Given the description of an element on the screen output the (x, y) to click on. 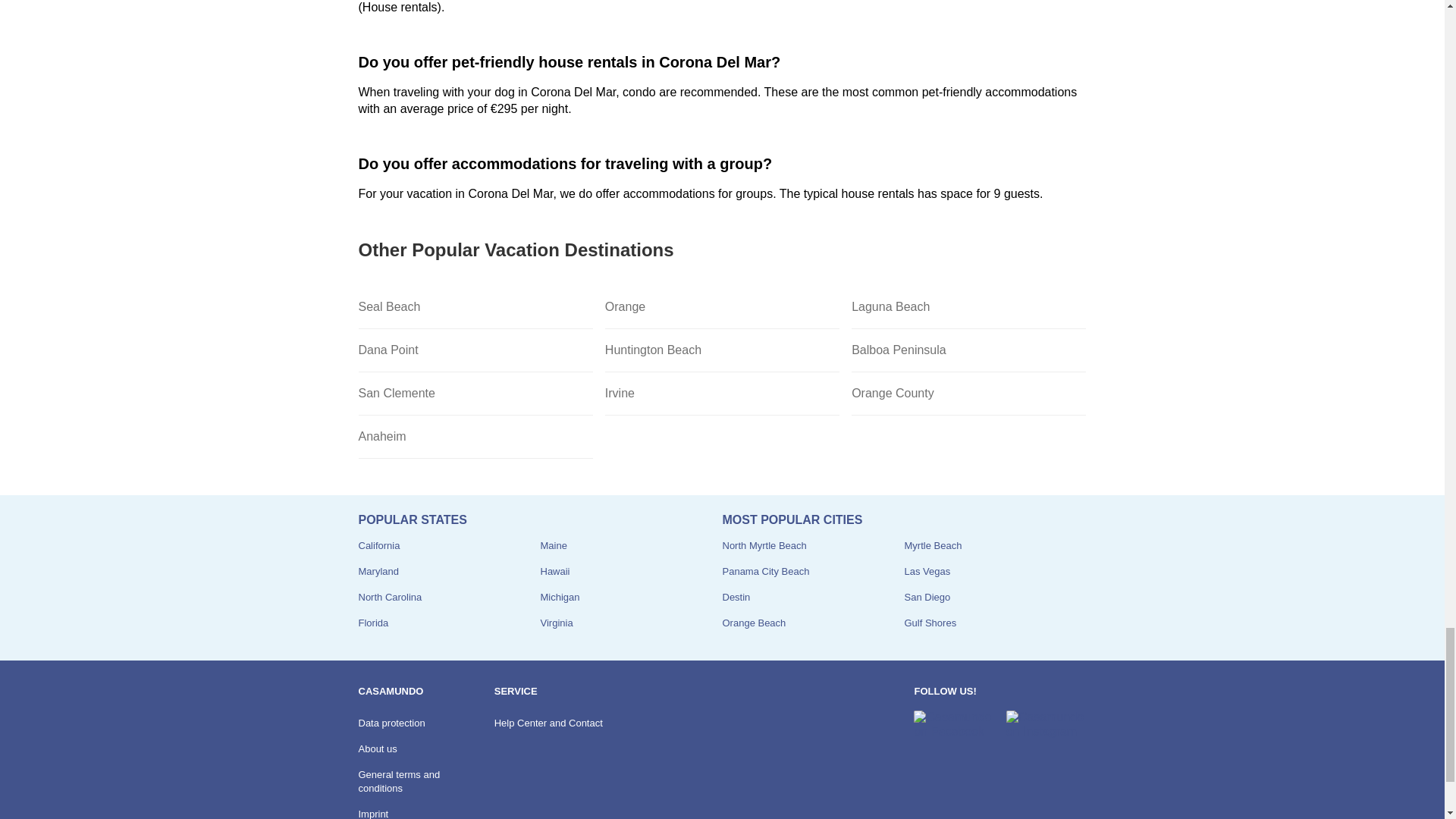
San Clemente (475, 393)
Balboa Peninsula (968, 350)
Seal Beach (475, 307)
Dana Point (475, 350)
Orange (722, 307)
Orange (722, 307)
Orange County (968, 393)
Anaheim (475, 436)
Casamundo on Facebook (953, 724)
Laguna Beach (968, 307)
Huntington Beach (722, 350)
Casamundo on Instagram (1046, 724)
Laguna Beach (968, 307)
Irvine (722, 393)
Seal Beach (475, 307)
